Given the description of an element on the screen output the (x, y) to click on. 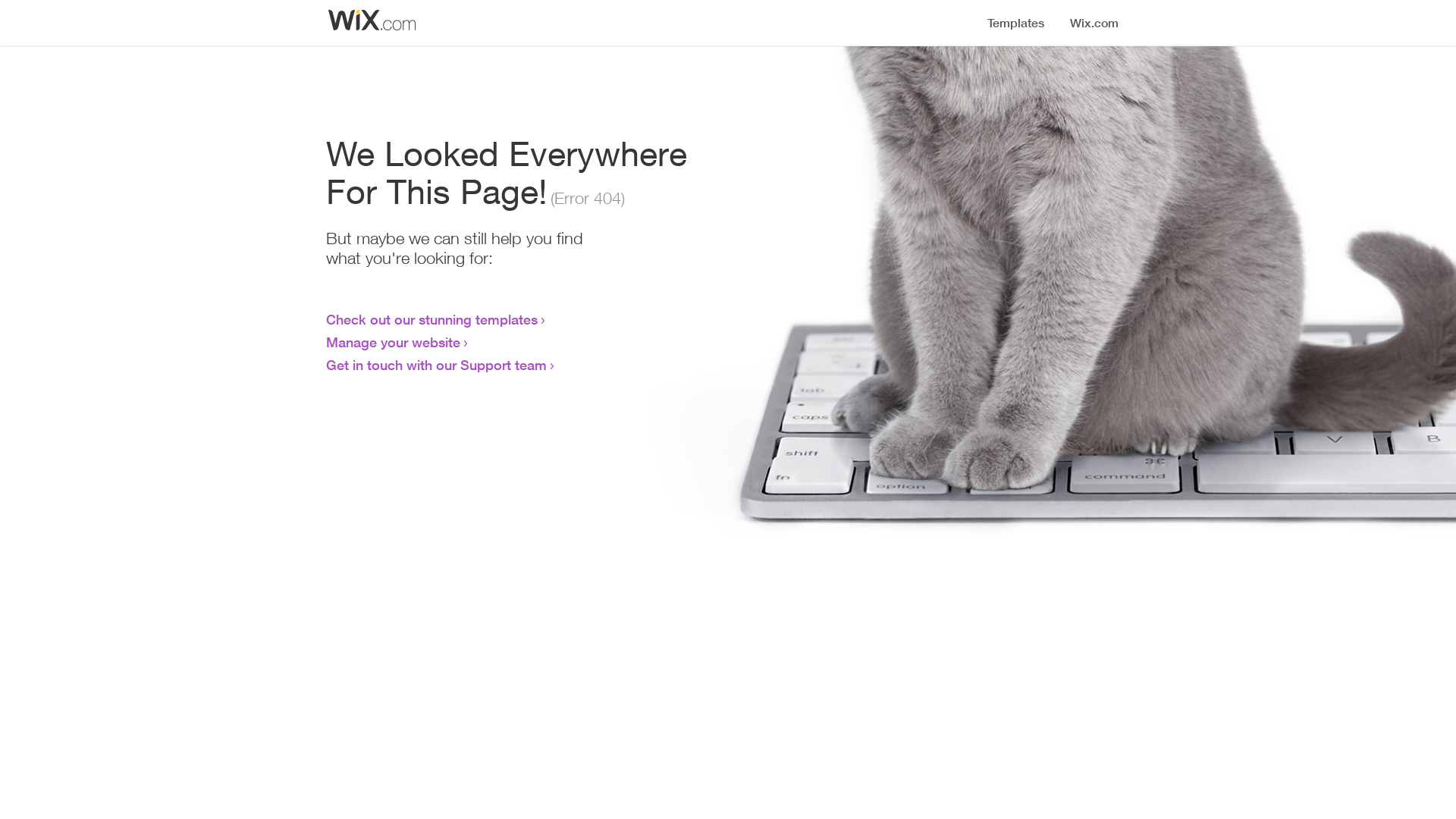
Manage your website Element type: text (393, 341)
Check out our stunning templates Element type: text (431, 318)
Get in touch with our Support team Element type: text (436, 364)
